Given the description of an element on the screen output the (x, y) to click on. 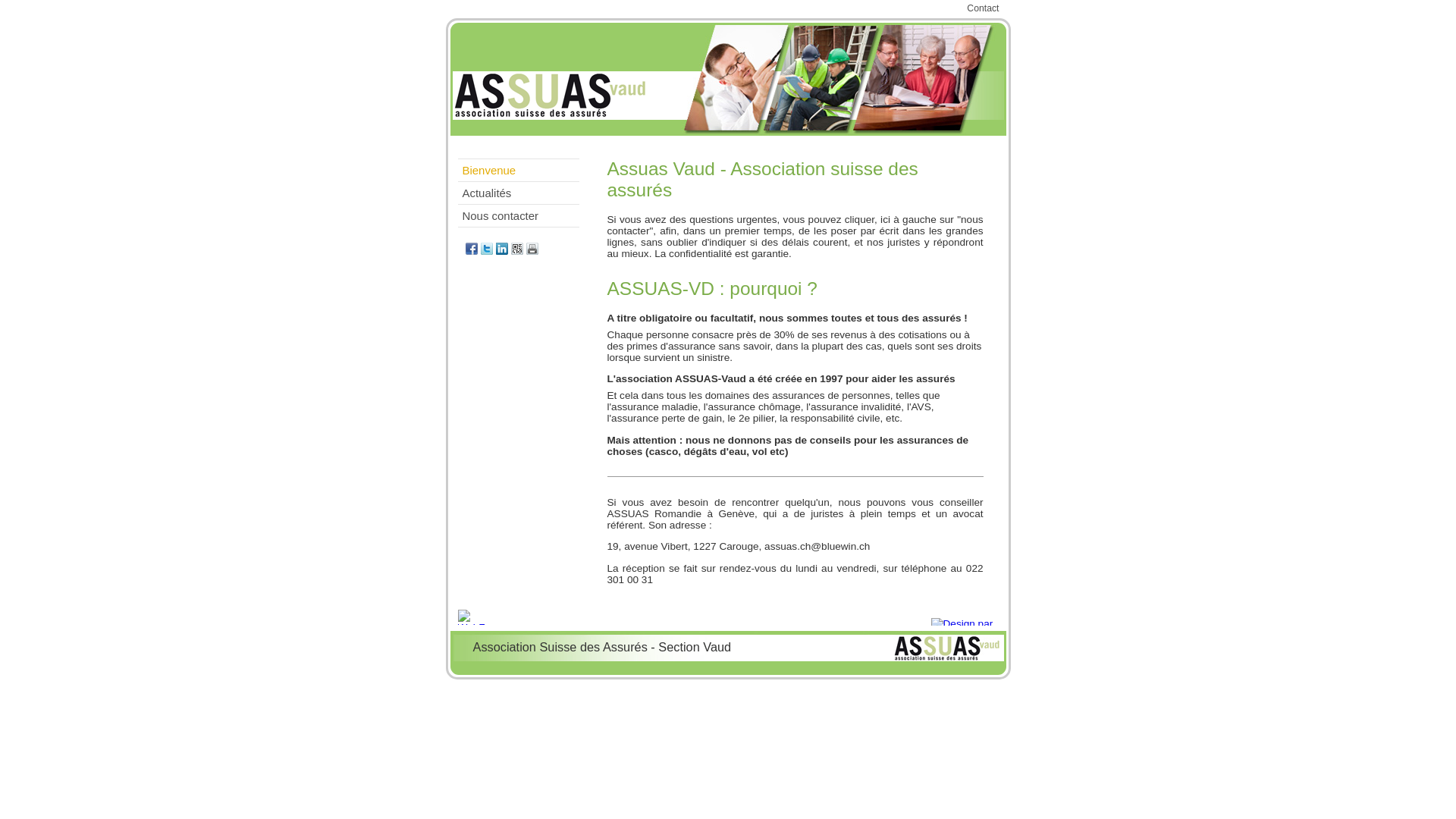
Afficher le QR-Code Element type: hover (517, 248)
Nous contacter Element type: text (518, 214)
Partager sur Twitter Element type: hover (486, 248)
Contact Element type: text (982, 7)
Version imprimable Element type: hover (532, 248)
Site internet WebForge Element type: hover (483, 616)
Partager sur Facebook Element type: hover (471, 248)
Partager sur Linked-In Element type: hover (501, 248)
Bienvenue Element type: text (518, 170)
